Given the description of an element on the screen output the (x, y) to click on. 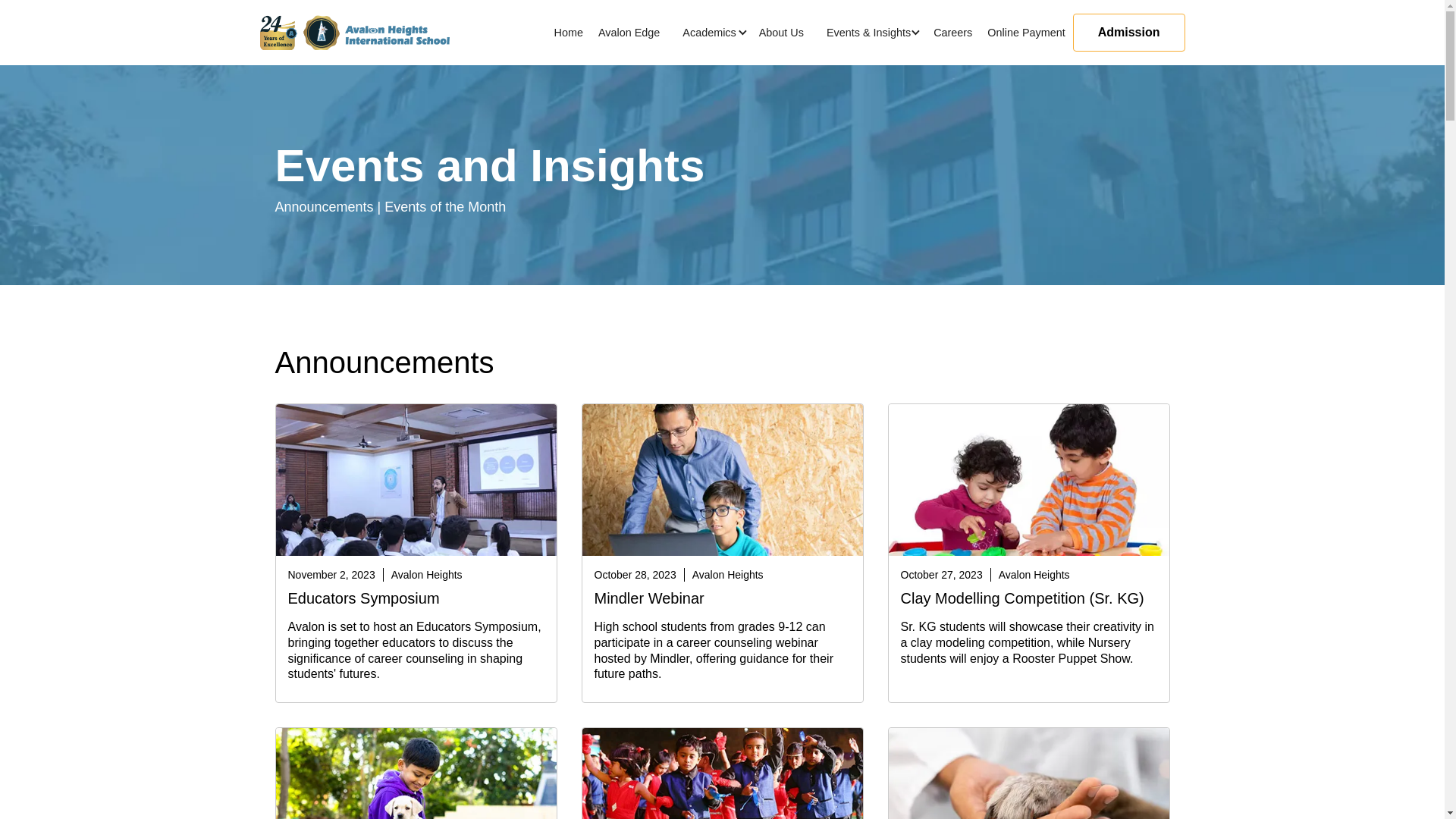
Home (569, 32)
Admission (1129, 32)
Avalon Edge (628, 32)
Online Payment (1025, 32)
About Us (780, 32)
Careers (952, 32)
